Given the description of an element on the screen output the (x, y) to click on. 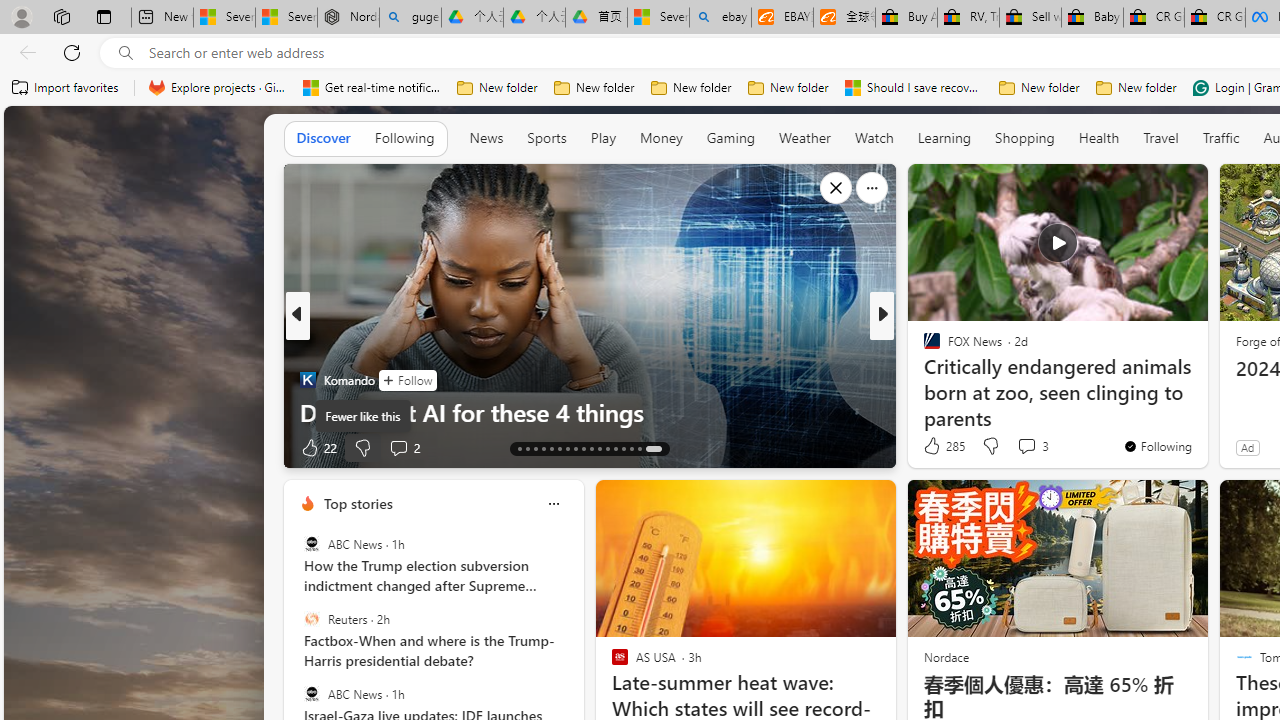
Search icon (125, 53)
Weather (804, 138)
Komando (307, 380)
AutomationID: tab-18 (559, 448)
AutomationID: tab-22 (591, 448)
AutomationID: tab-39 (623, 448)
New folder (1136, 88)
Follow (406, 380)
Don't trust AI for these 4 things (589, 411)
AutomationID: tab-23 (599, 448)
AutomationID: tab-40 (631, 448)
AutomationID: tab-20 (574, 448)
